Given the description of an element on the screen output the (x, y) to click on. 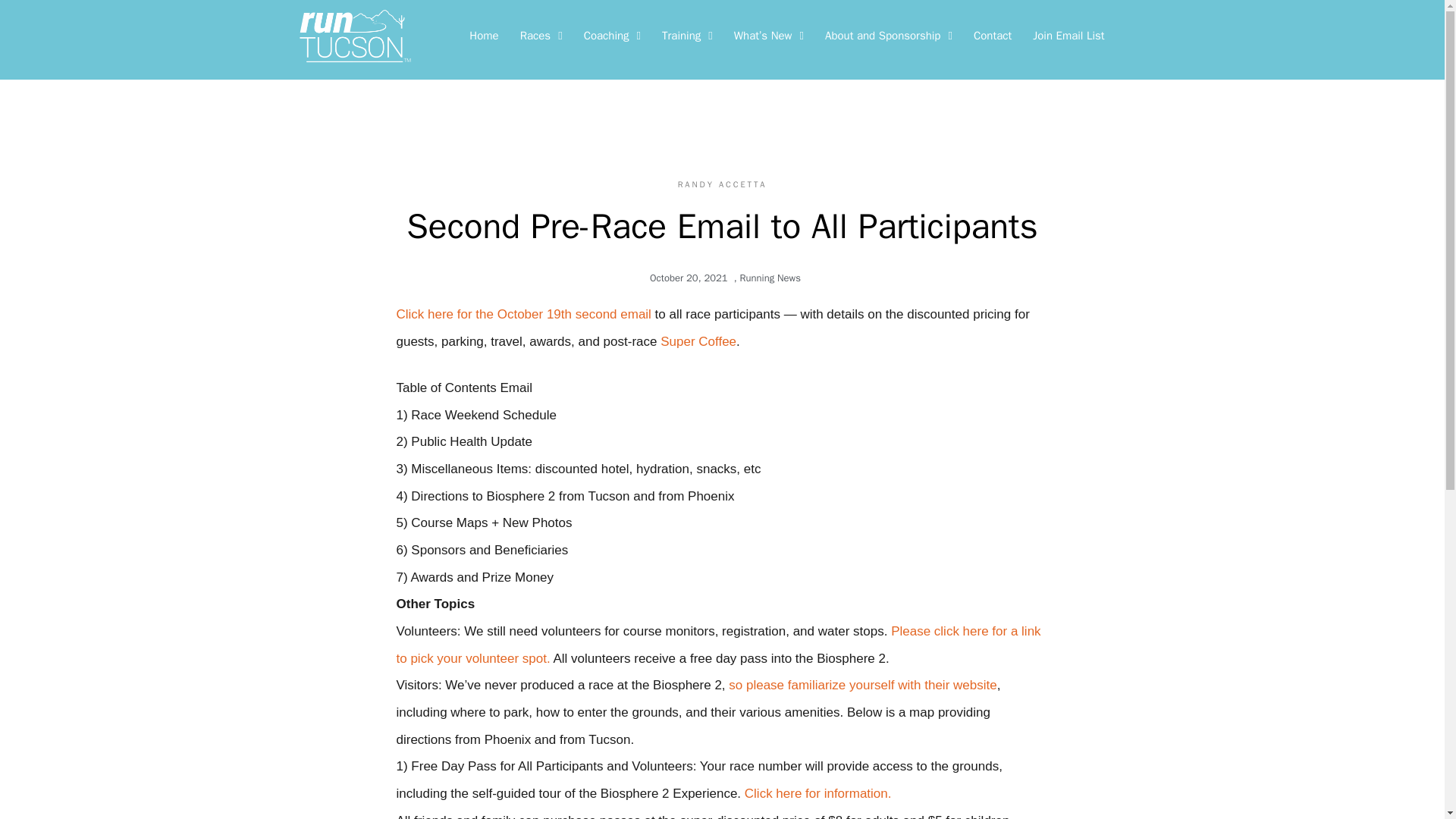
Coaching (611, 35)
About and Sponsorship (887, 35)
Contact (992, 35)
Home (483, 35)
Join Email List (1068, 35)
Training (686, 35)
Races (541, 35)
